Given the description of an element on the screen output the (x, y) to click on. 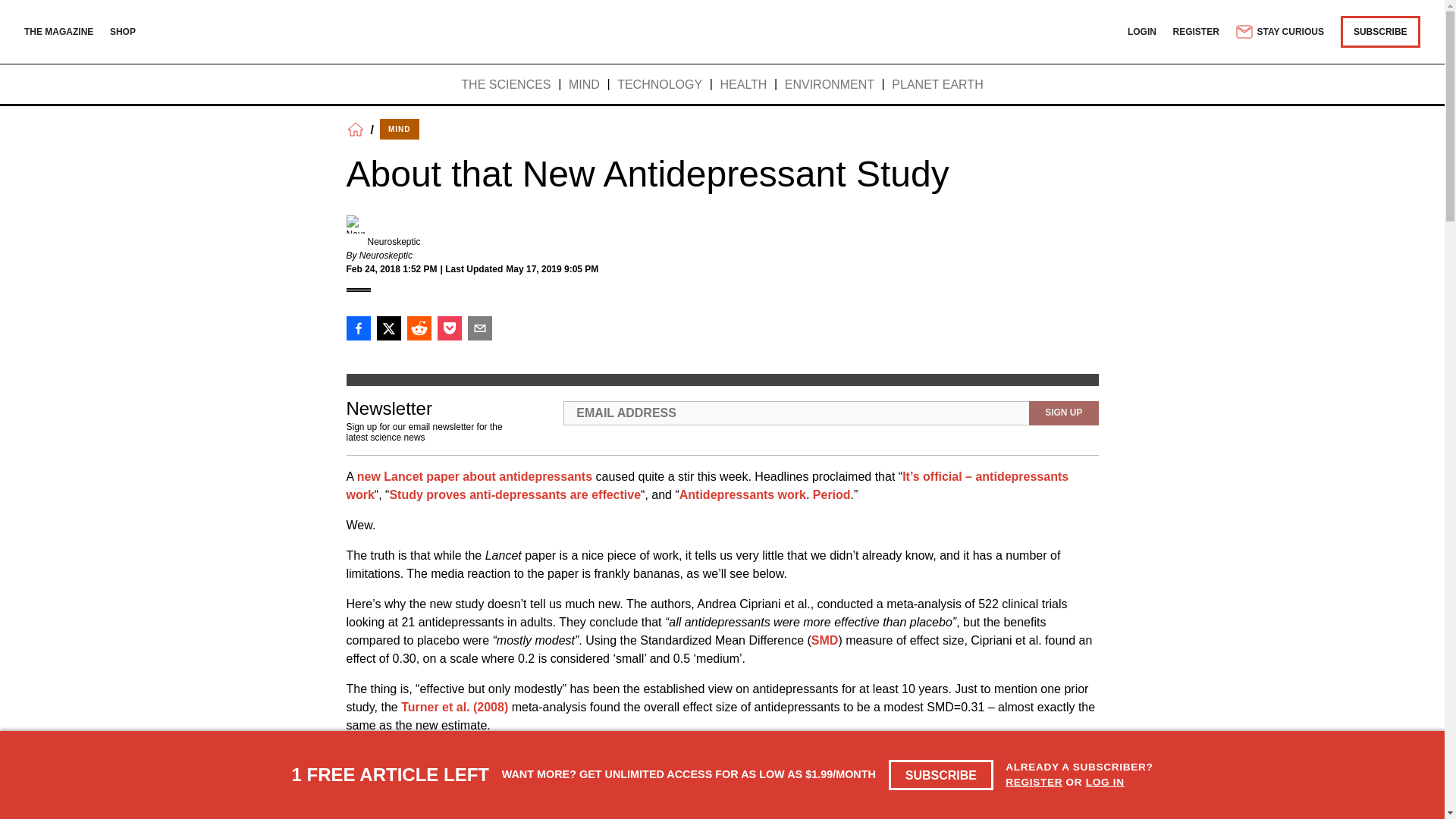
HEALTH (743, 84)
SIGN UP (1063, 413)
THE SCIENCES (505, 84)
LOG IN (1105, 781)
notorious (933, 755)
Neuroskeptic (393, 241)
MIND (399, 128)
TECHNOLOGY (659, 84)
SMD (824, 640)
LOGIN (1141, 31)
SHOP (122, 31)
SUBSCRIBE (1380, 31)
PLANET EARTH (936, 84)
ENVIRONMENT (829, 84)
MIND (584, 84)
